Given the description of an element on the screen output the (x, y) to click on. 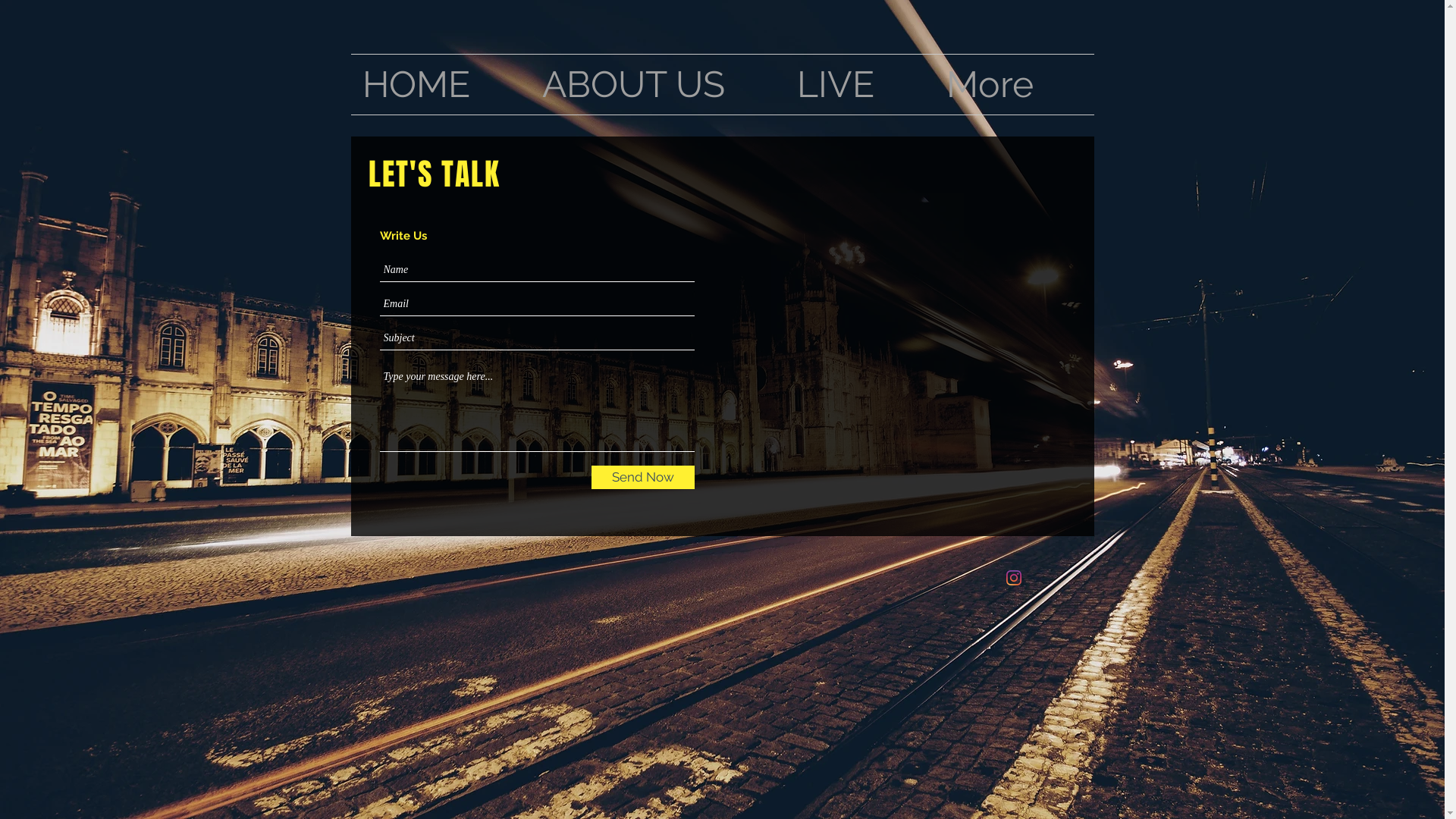
Send Now Element type: text (642, 477)
HOME Element type: text (440, 84)
ABOUT US Element type: text (657, 84)
LIVE Element type: text (860, 84)
